Given the description of an element on the screen output the (x, y) to click on. 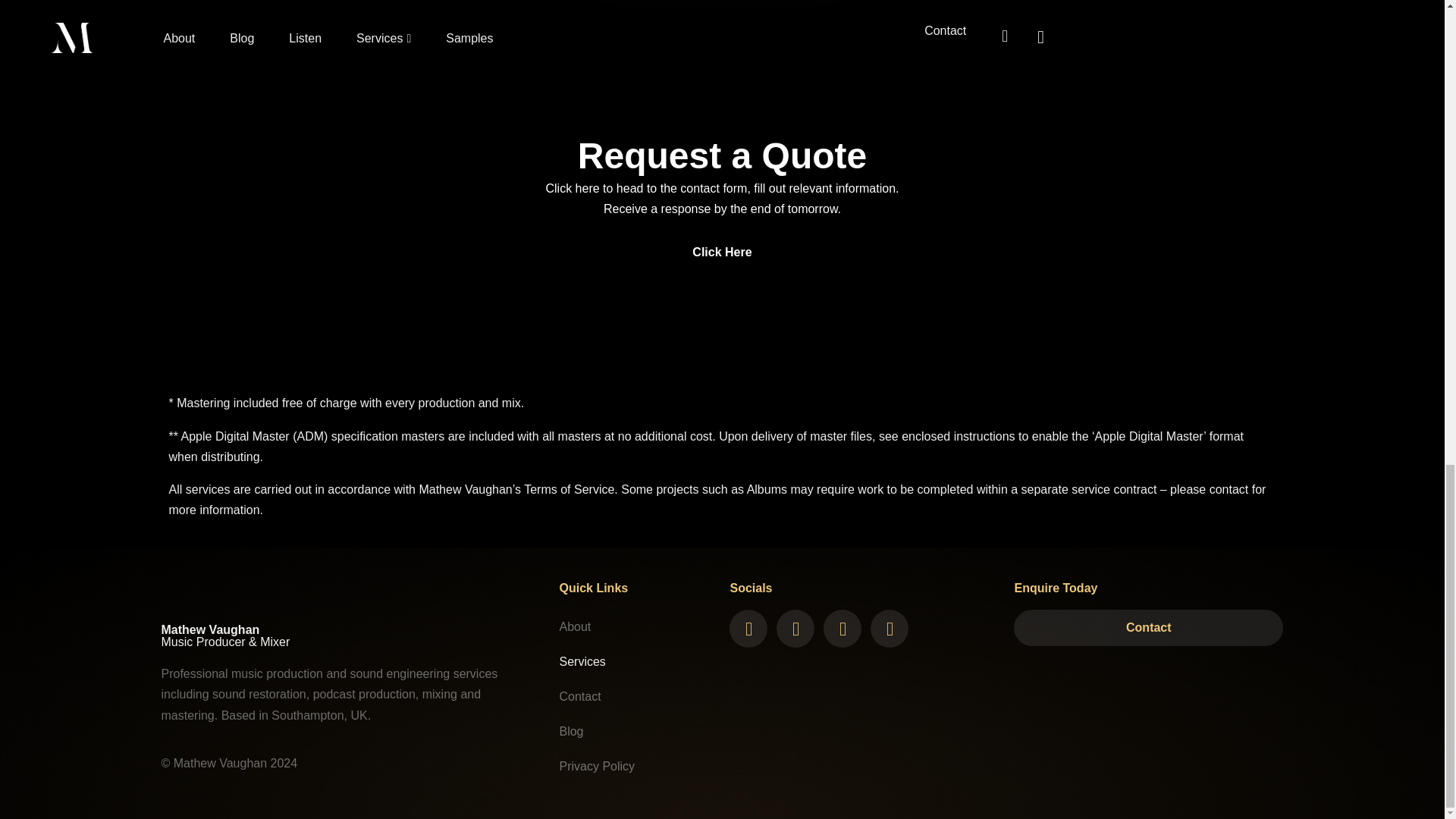
Blog (636, 731)
Contact (636, 696)
About (636, 626)
Services (636, 661)
